Given the description of an element on the screen output the (x, y) to click on. 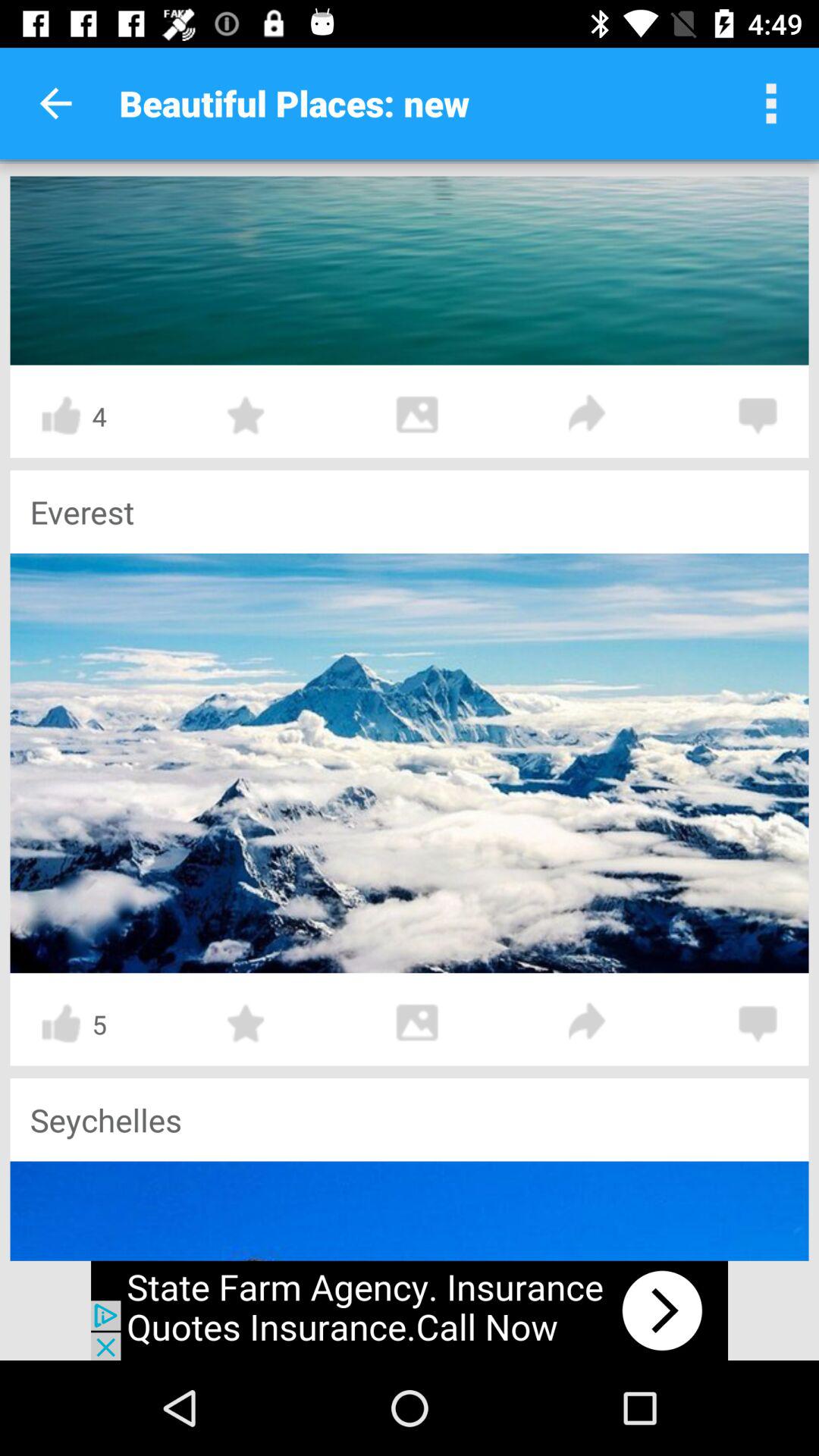
indicate like (61, 1023)
